Given the description of an element on the screen output the (x, y) to click on. 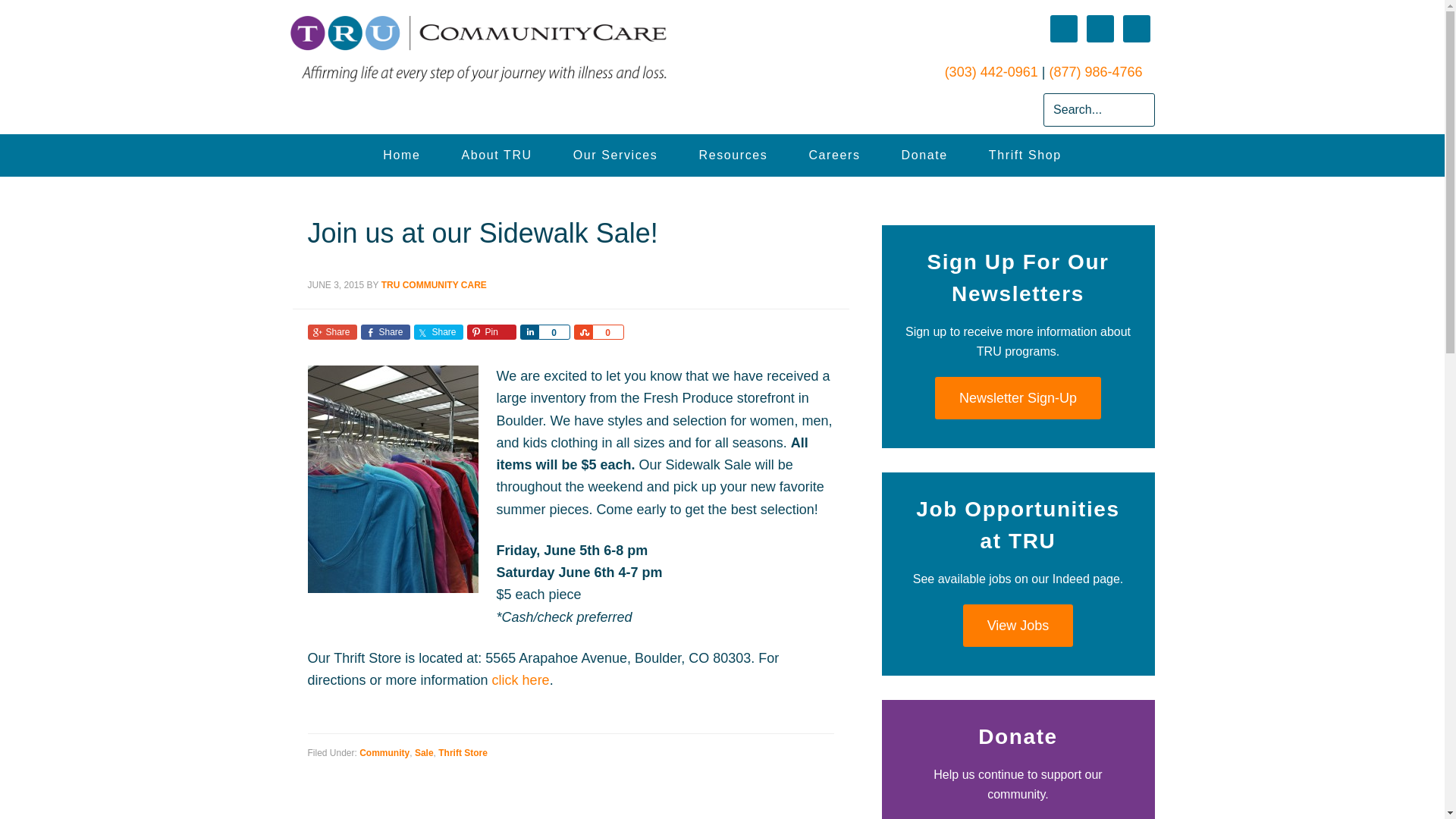
Our Services (614, 155)
TRU Hospice Boulder (495, 155)
TRU (527, 48)
TRU Community Care (401, 155)
Resources (731, 155)
Boulder Hospice Services (614, 155)
Home (401, 155)
About TRU (495, 155)
